Given the description of an element on the screen output the (x, y) to click on. 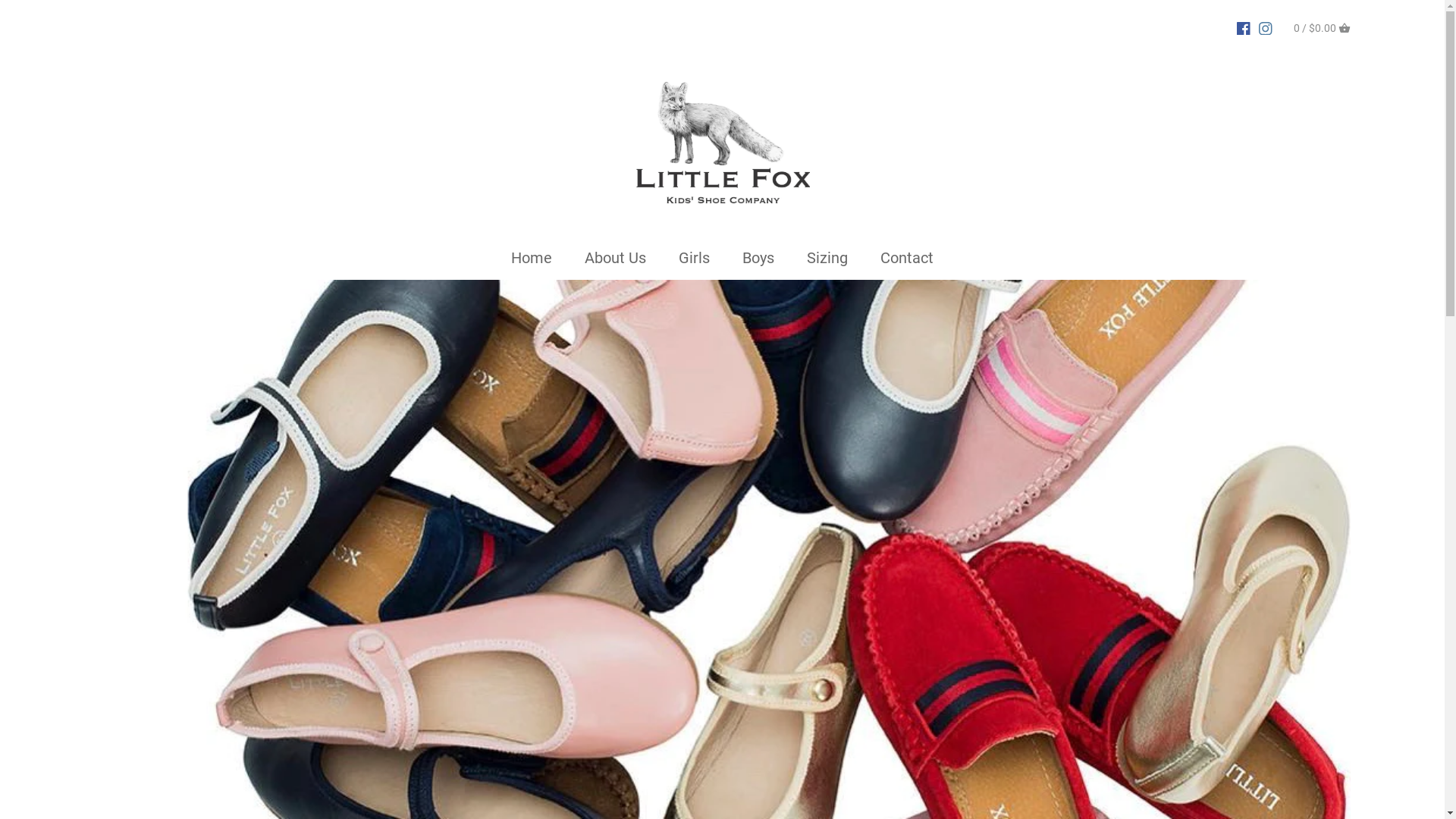
Girls Element type: text (693, 260)
FACEBOOK Element type: text (1243, 26)
INSTAGRAM Element type: text (1265, 26)
Boys Element type: text (758, 260)
Sizing Element type: text (826, 260)
Contact Element type: text (906, 260)
0 / $0.00 CART Element type: text (1321, 27)
Home Element type: text (531, 260)
About Us Element type: text (615, 260)
